Given the description of an element on the screen output the (x, y) to click on. 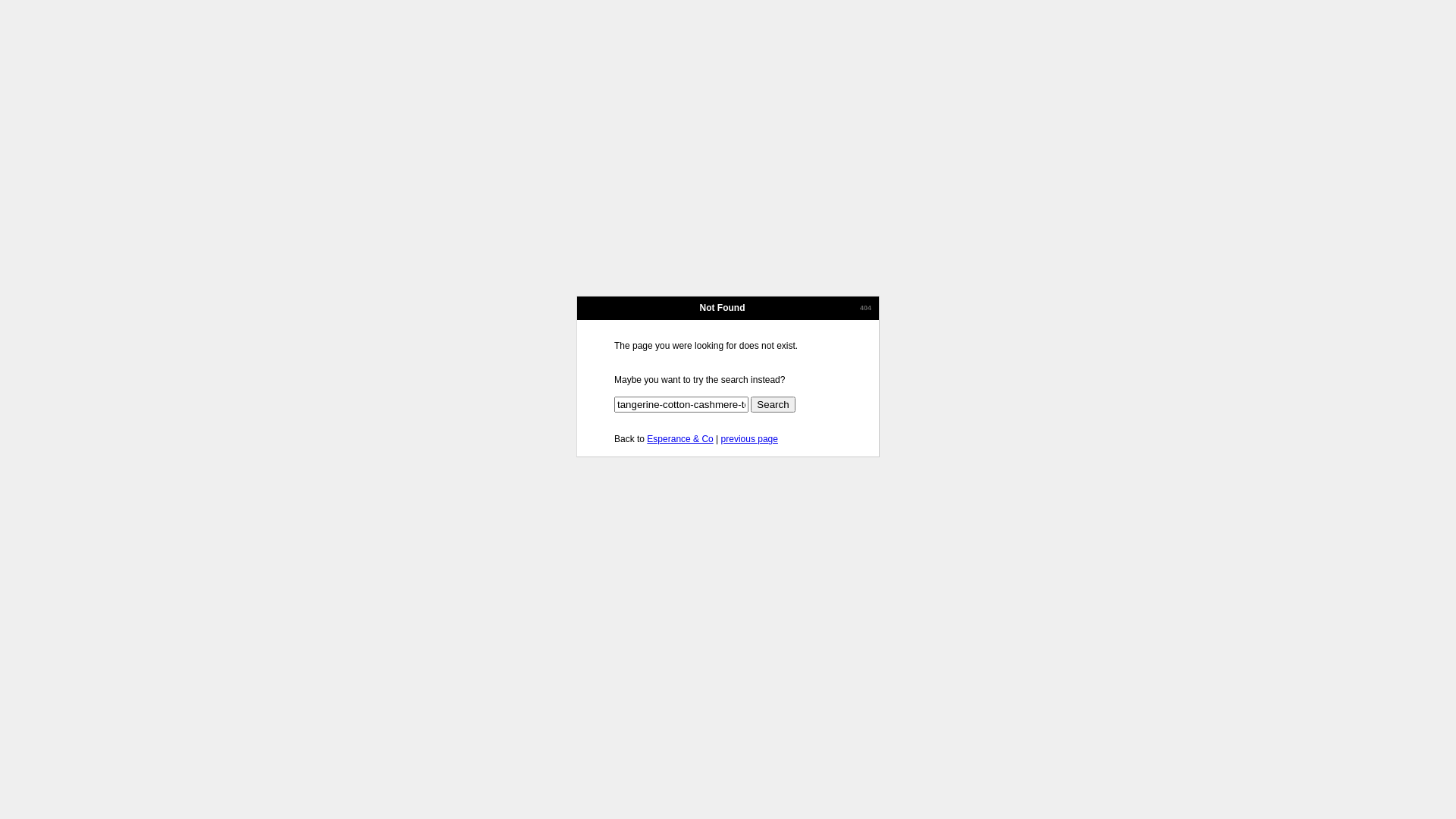
Esperance & Co Element type: text (679, 438)
previous page Element type: text (749, 438)
Search Element type: text (772, 404)
